Given the description of an element on the screen output the (x, y) to click on. 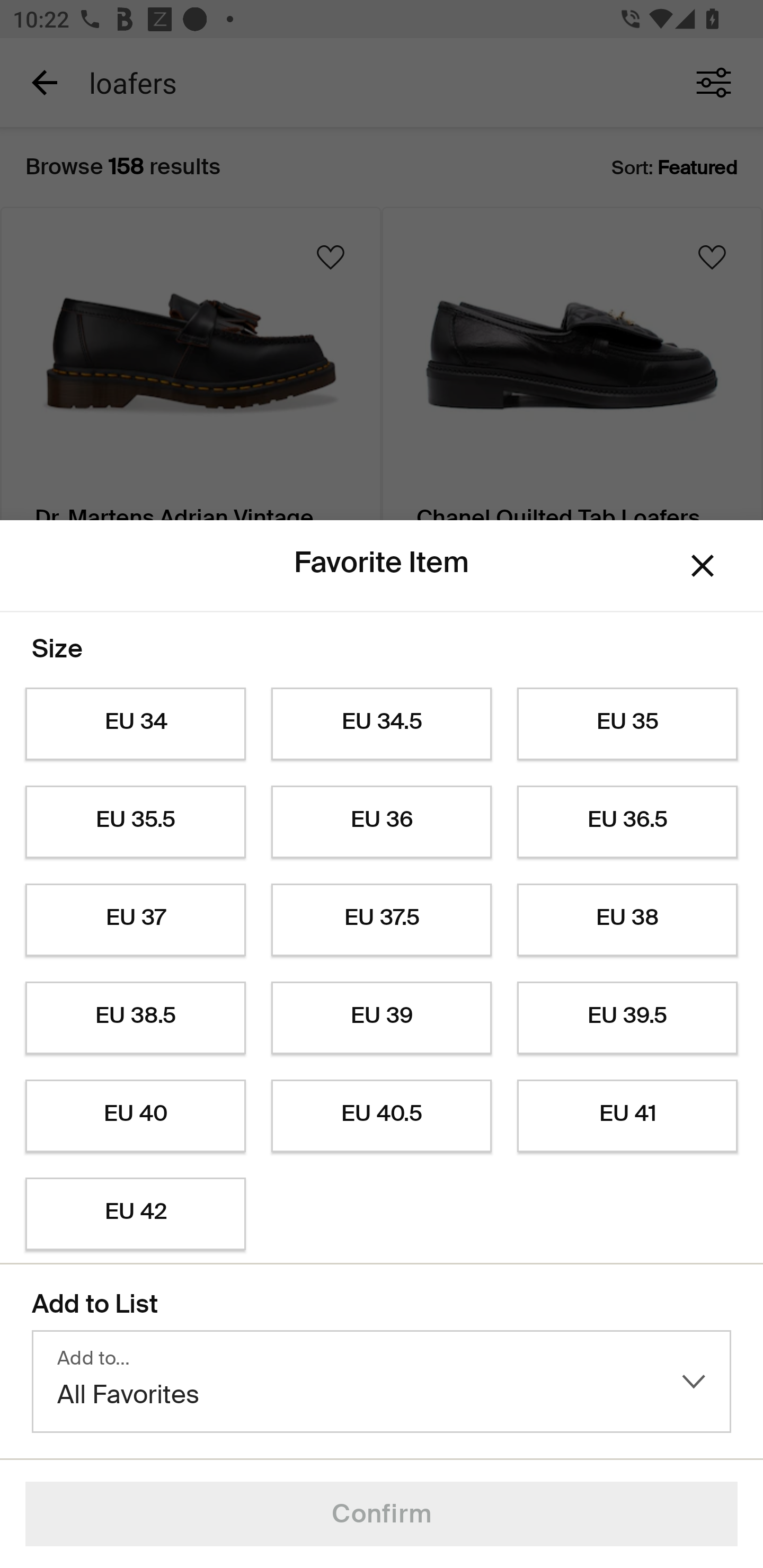
Dismiss (702, 564)
EU 34 (135, 724)
EU 34.5 (381, 724)
EU 35 (627, 724)
EU 35.5 (135, 822)
EU 36 (381, 822)
EU 36.5 (627, 822)
EU 37 (135, 919)
EU 37.5 (381, 919)
EU 38 (627, 919)
EU 38.5 (135, 1018)
EU 39 (381, 1018)
EU 39.5 (627, 1018)
EU 40 (135, 1116)
EU 40.5 (381, 1116)
EU 41 (627, 1116)
EU 42 (135, 1214)
Add to… All Favorites (381, 1381)
Confirm (381, 1513)
